Given the description of an element on the screen output the (x, y) to click on. 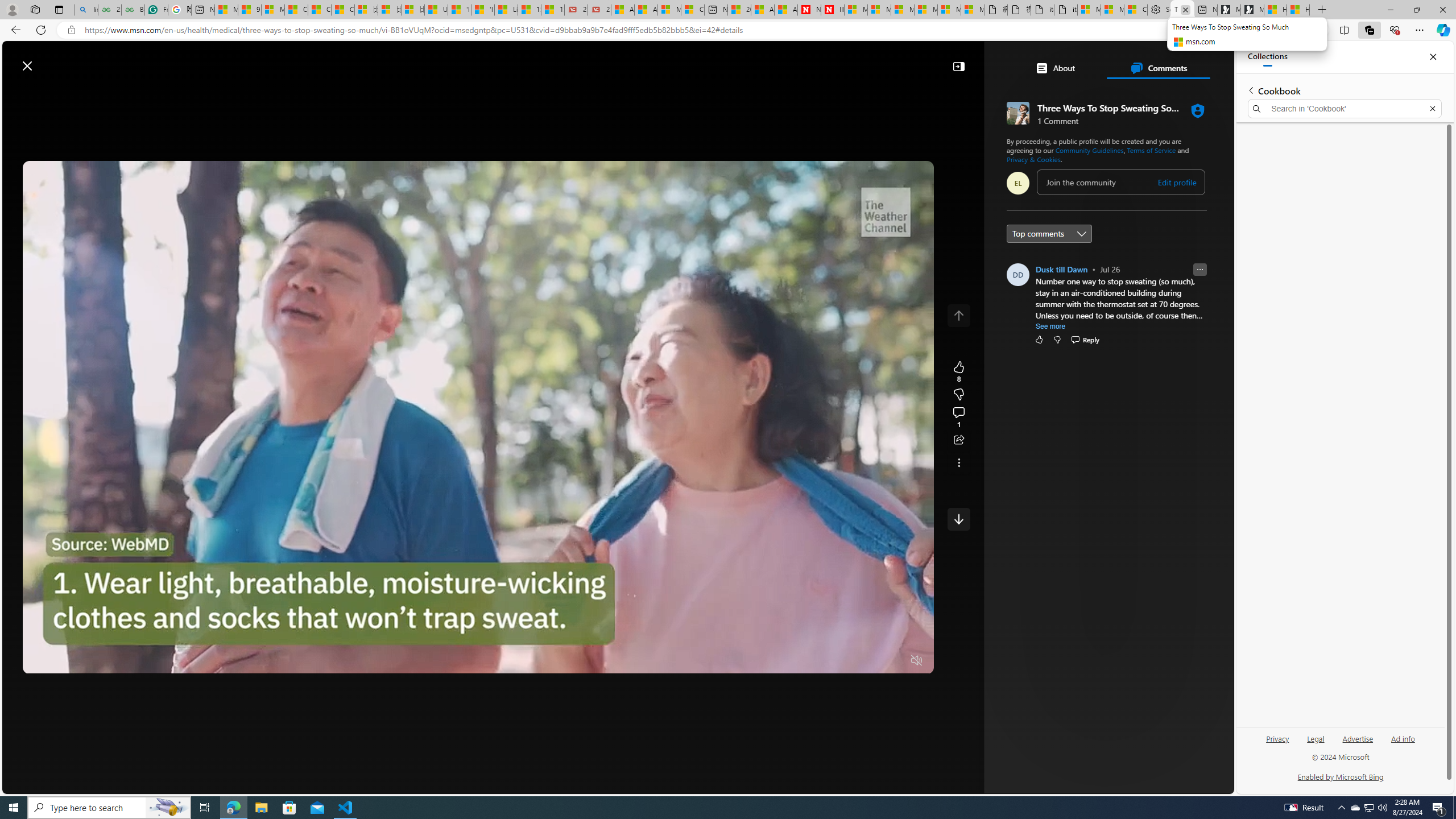
Seek Back (62, 660)
Exit search (1432, 108)
USA TODAY - MSN (435, 9)
linux basic - Search (86, 9)
Dusk till Dawn (1061, 269)
Lifestyle - MSN (505, 9)
Reuters (1060, 316)
Collapse (958, 65)
